Given the description of an element on the screen output the (x, y) to click on. 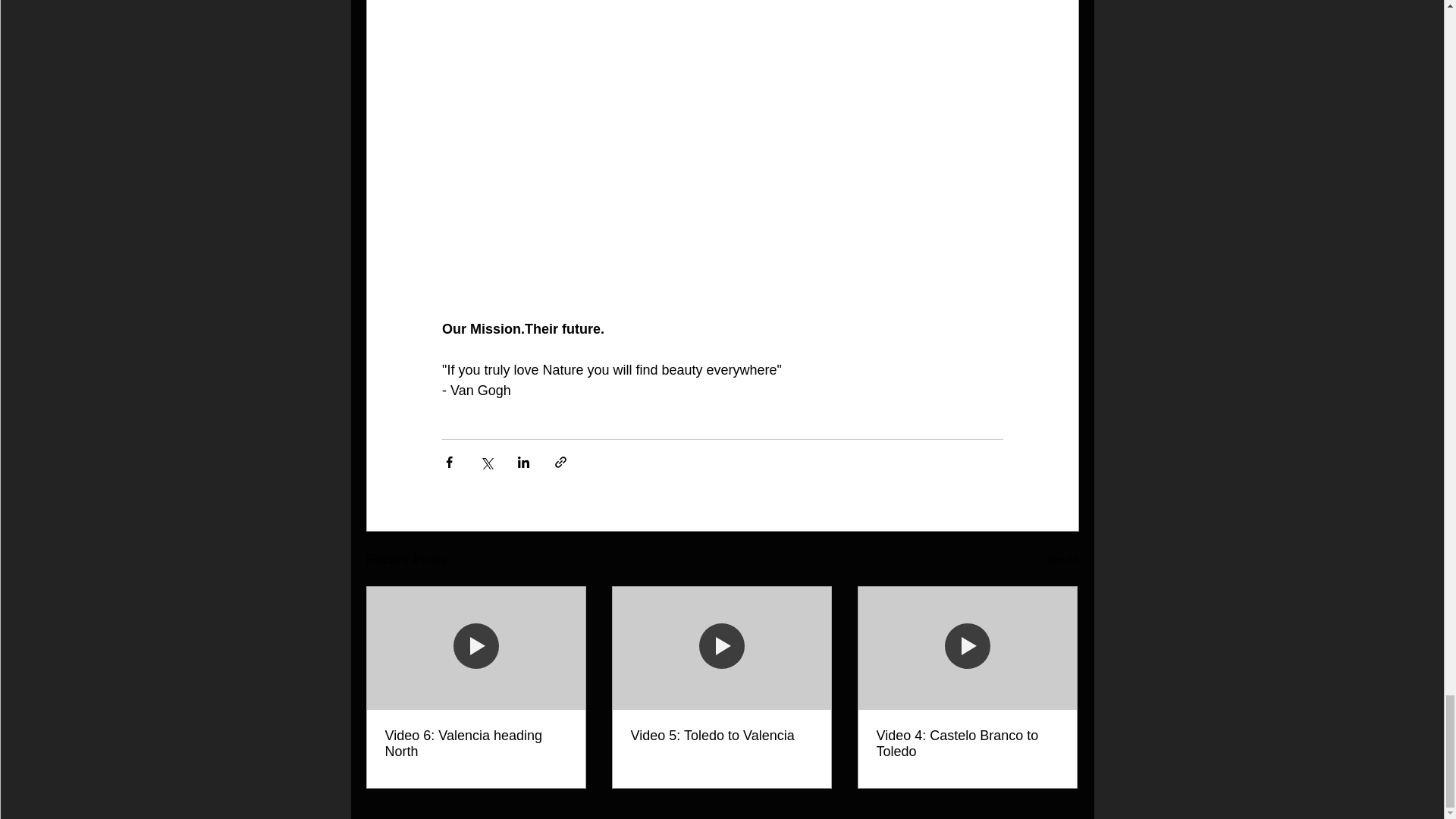
See All (1061, 559)
Video 6: Valencia heading North (476, 744)
Video 5: Toledo to Valencia (721, 735)
Video 4: Castelo Branco to Toledo (967, 744)
